Given the description of an element on the screen output the (x, y) to click on. 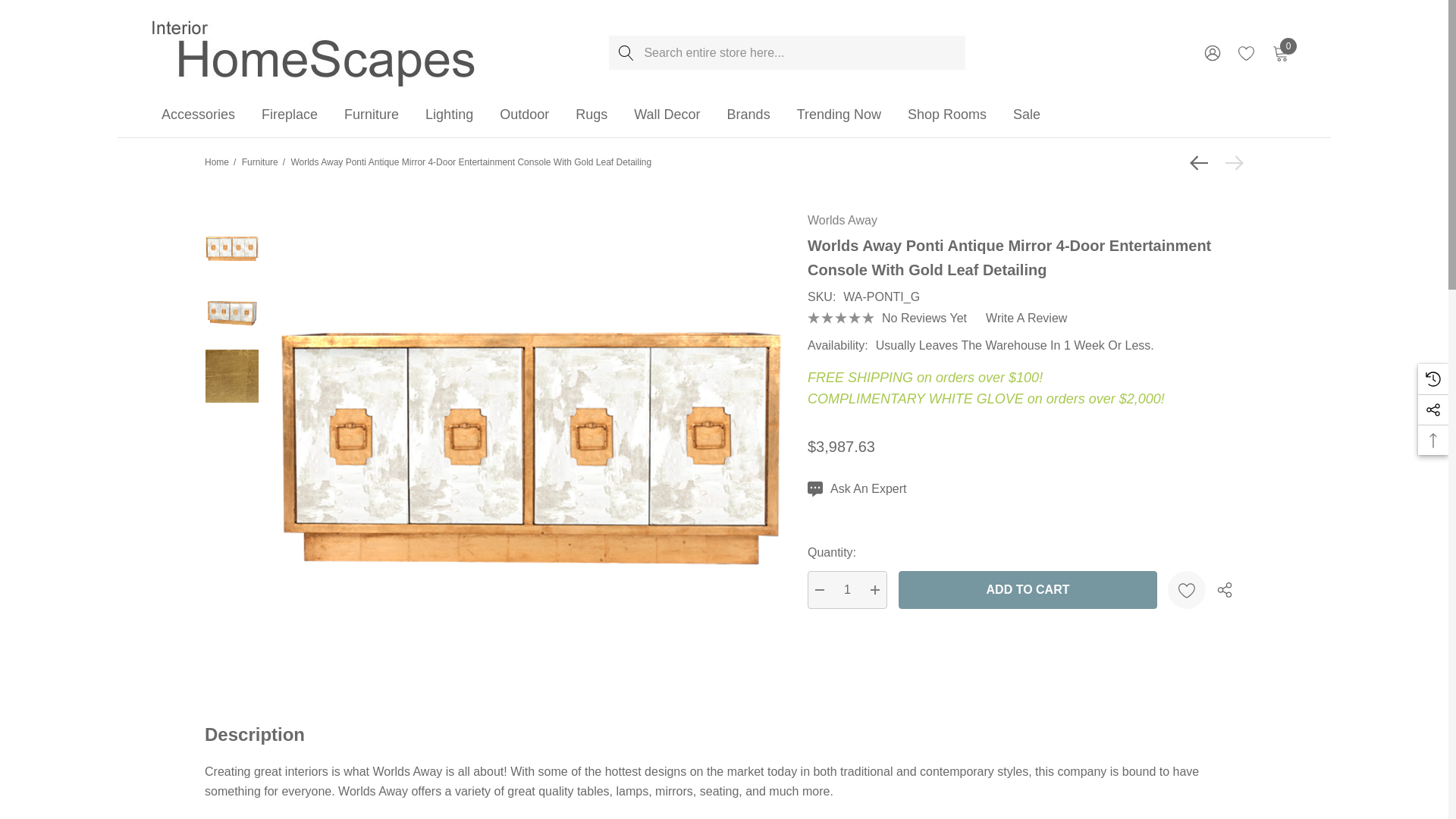
Interior HomeScapes (315, 52)
Accessories (197, 115)
Add to Cart (1027, 589)
1 (847, 589)
